Given the description of an element on the screen output the (x, y) to click on. 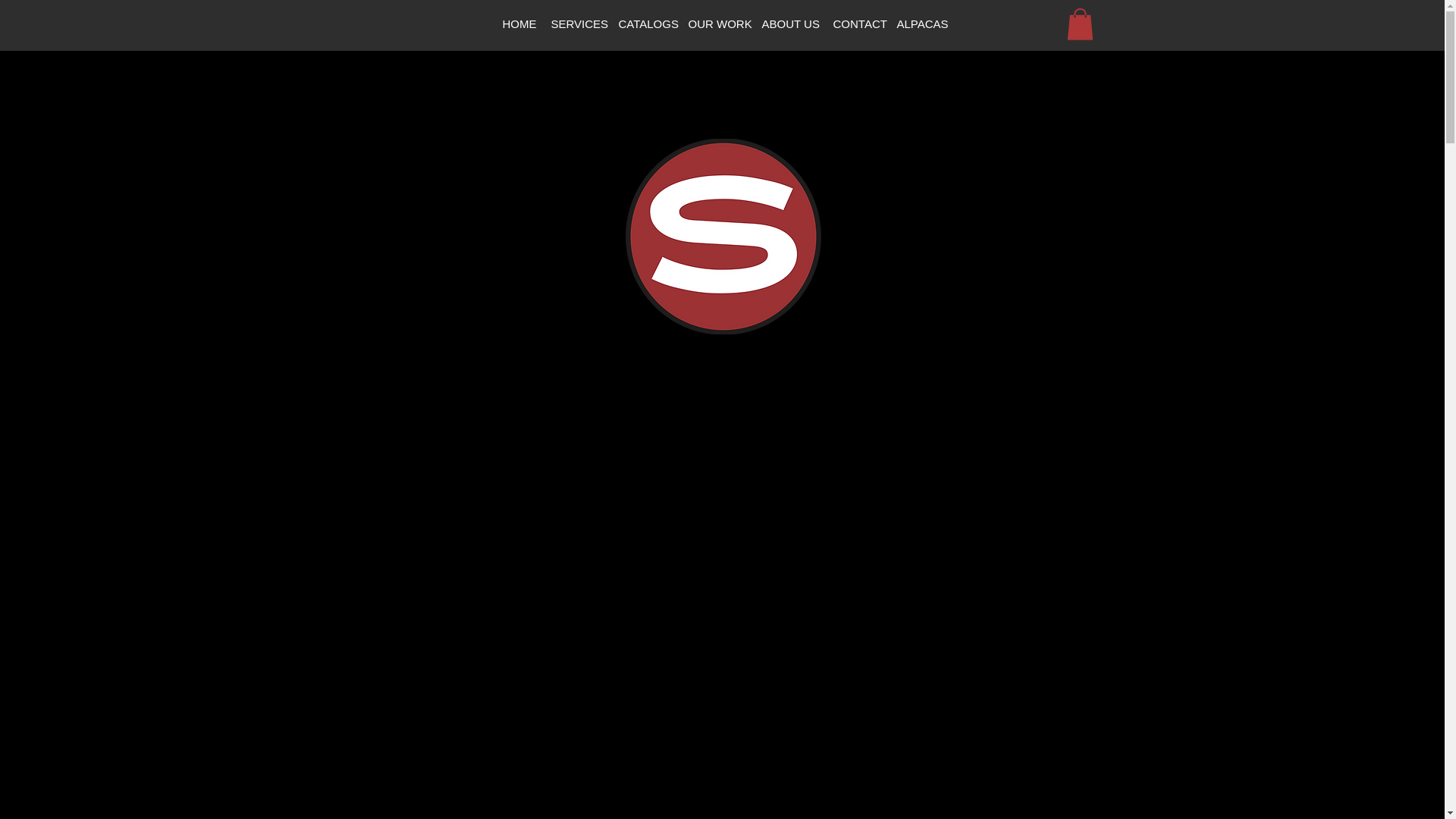
Stitchtime-S.png (722, 236)
SERVICES (574, 24)
CONTACT (855, 24)
CATALOGS (643, 24)
ALPACAS (919, 24)
OUR WORK (714, 24)
HOME (517, 24)
ABOUT US (788, 24)
